Given the description of an element on the screen output the (x, y) to click on. 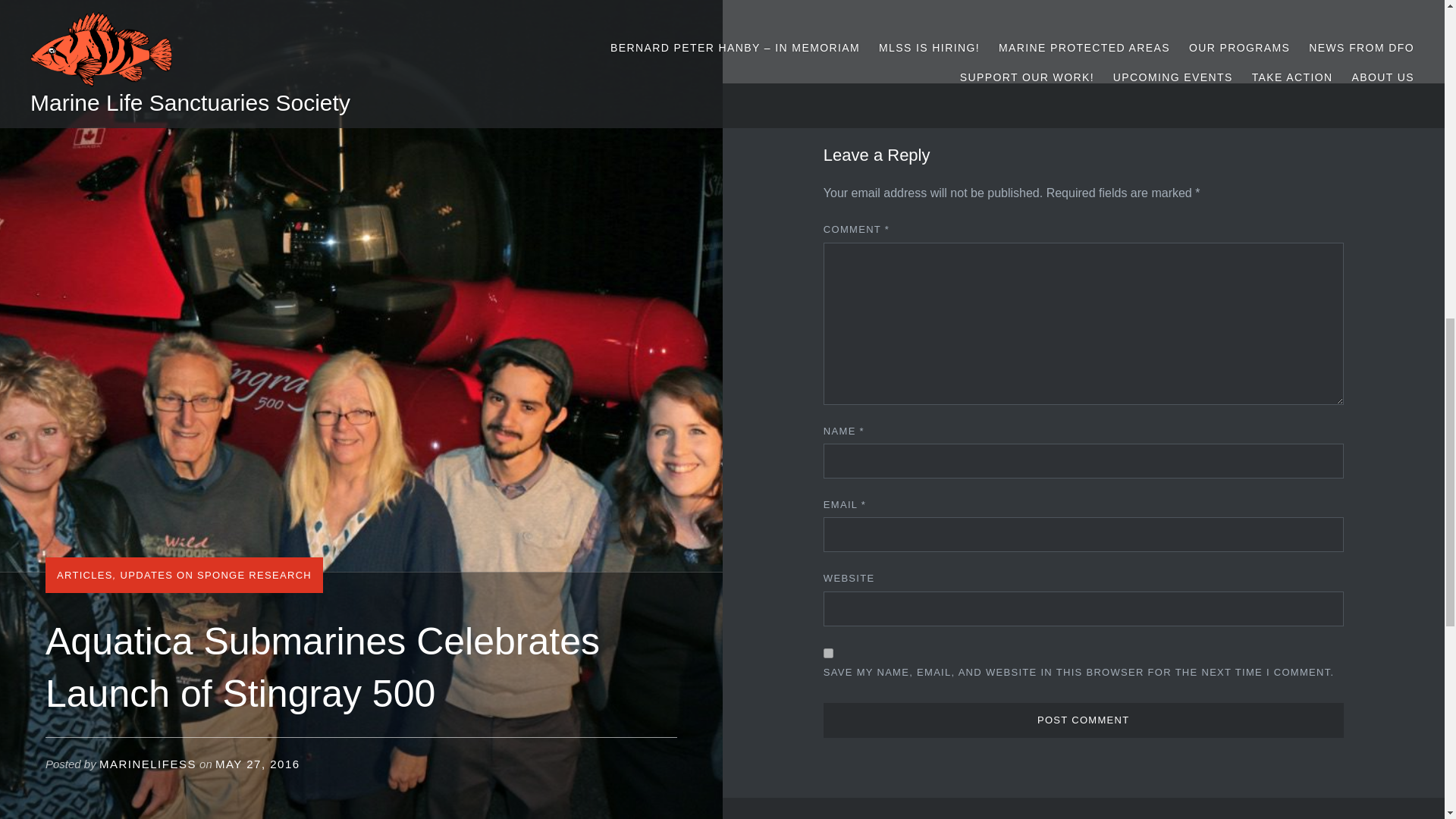
yes (828, 653)
Post Comment (1083, 719)
